Given the description of an element on the screen output the (x, y) to click on. 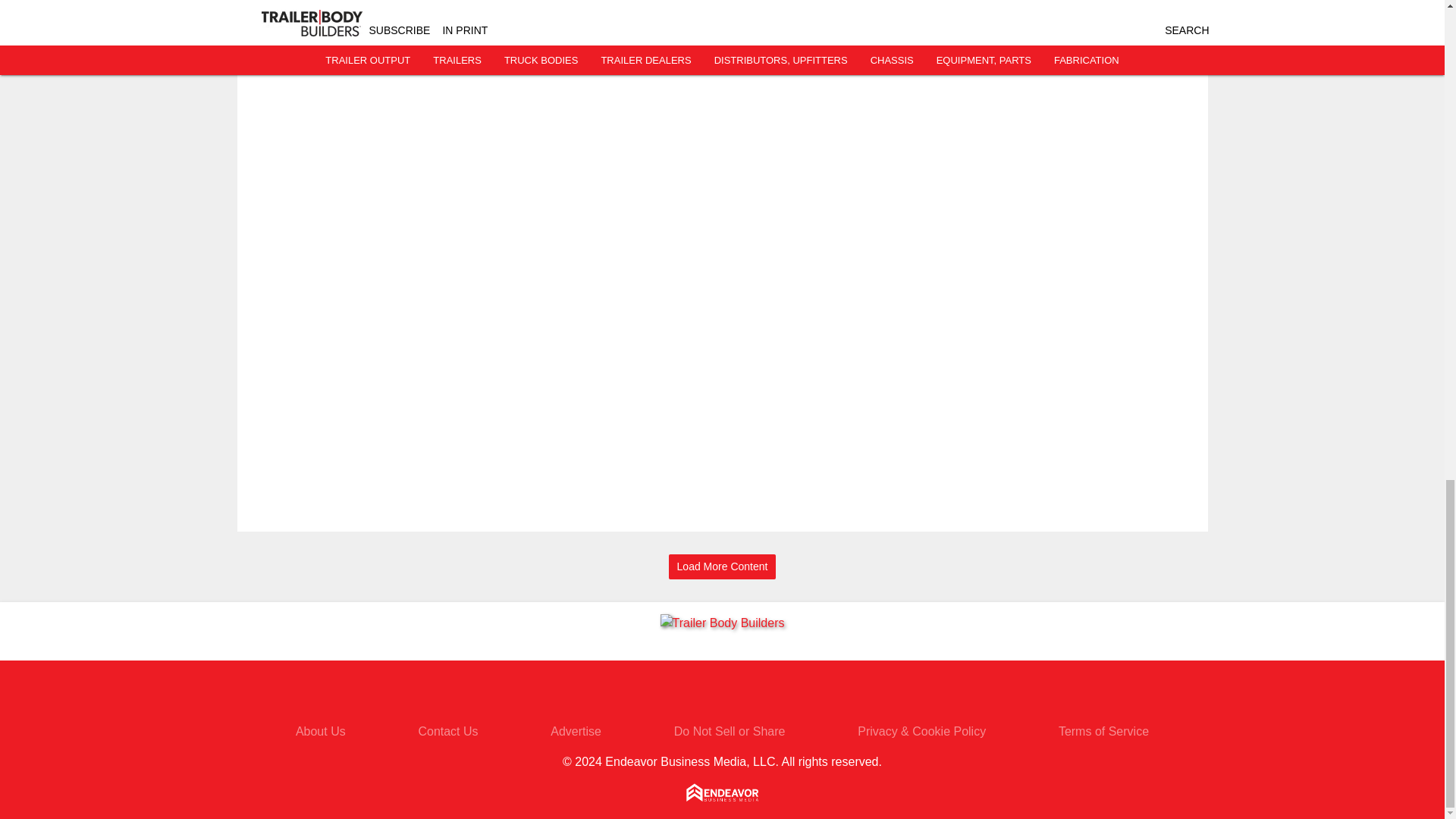
Convention Calendar November 2014 (424, 4)
Archive (424, 40)
Image (307, 12)
